Given the description of an element on the screen output the (x, y) to click on. 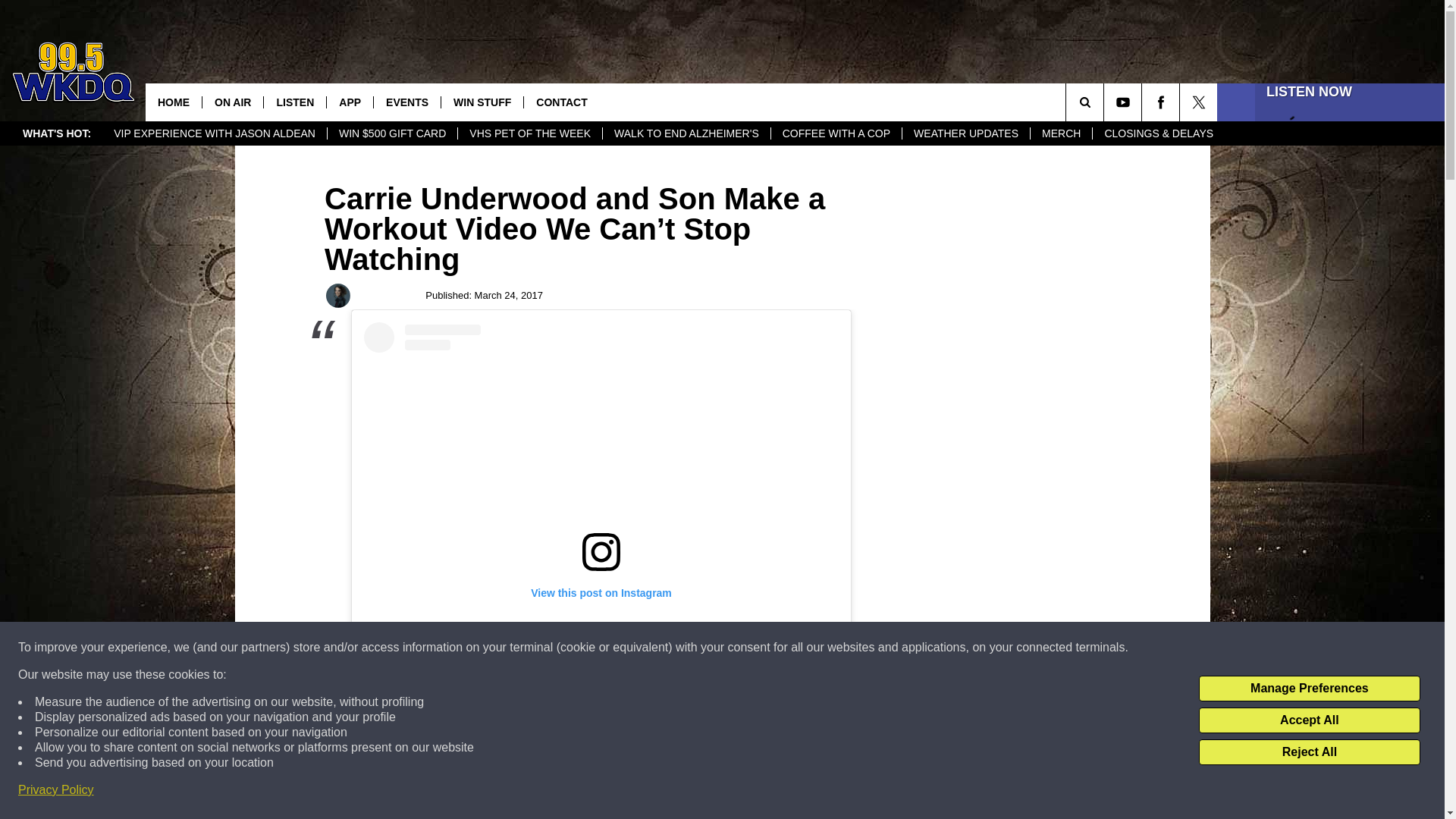
COFFEE WITH A COP (835, 133)
WEATHER UPDATES (965, 133)
Accept All (1309, 720)
Manage Preferences (1309, 688)
SEARCH (1106, 102)
EVENTS (406, 102)
MERCH (1060, 133)
Privacy Policy (55, 789)
VHS PET OF THE WEEK (529, 133)
APP (349, 102)
